Given the description of an element on the screen output the (x, y) to click on. 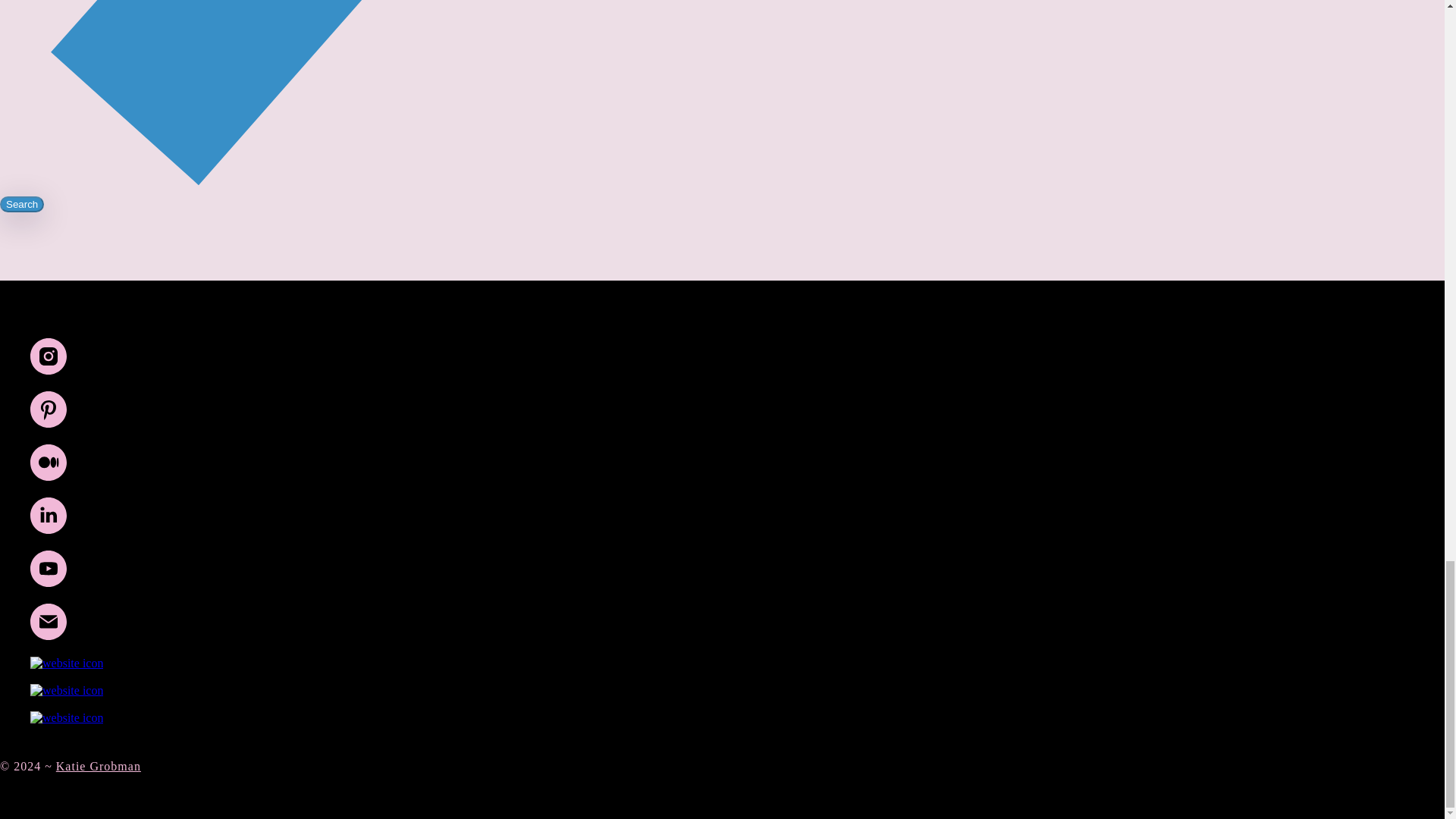
Email (48, 635)
YouTube (48, 582)
Katie Grobman (98, 766)
GoogleScholar (66, 717)
ResearchGate (66, 662)
Instagram (48, 369)
Medium (48, 476)
Academia.edu (66, 689)
LinkedIN (48, 529)
Pinterest (48, 422)
Search (21, 204)
